Given the description of an element on the screen output the (x, y) to click on. 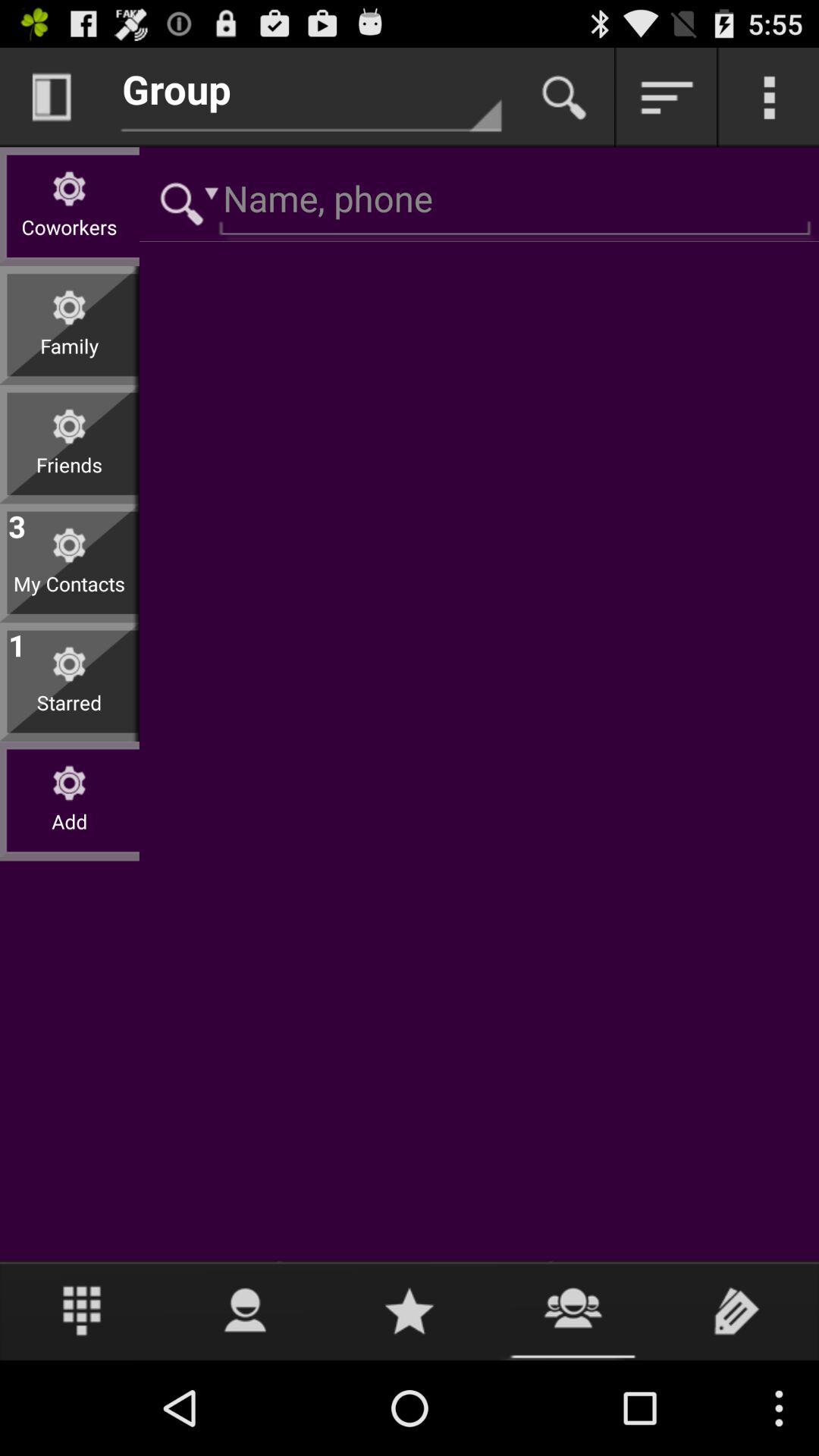
open friends tab (573, 1310)
